Given the description of an element on the screen output the (x, y) to click on. 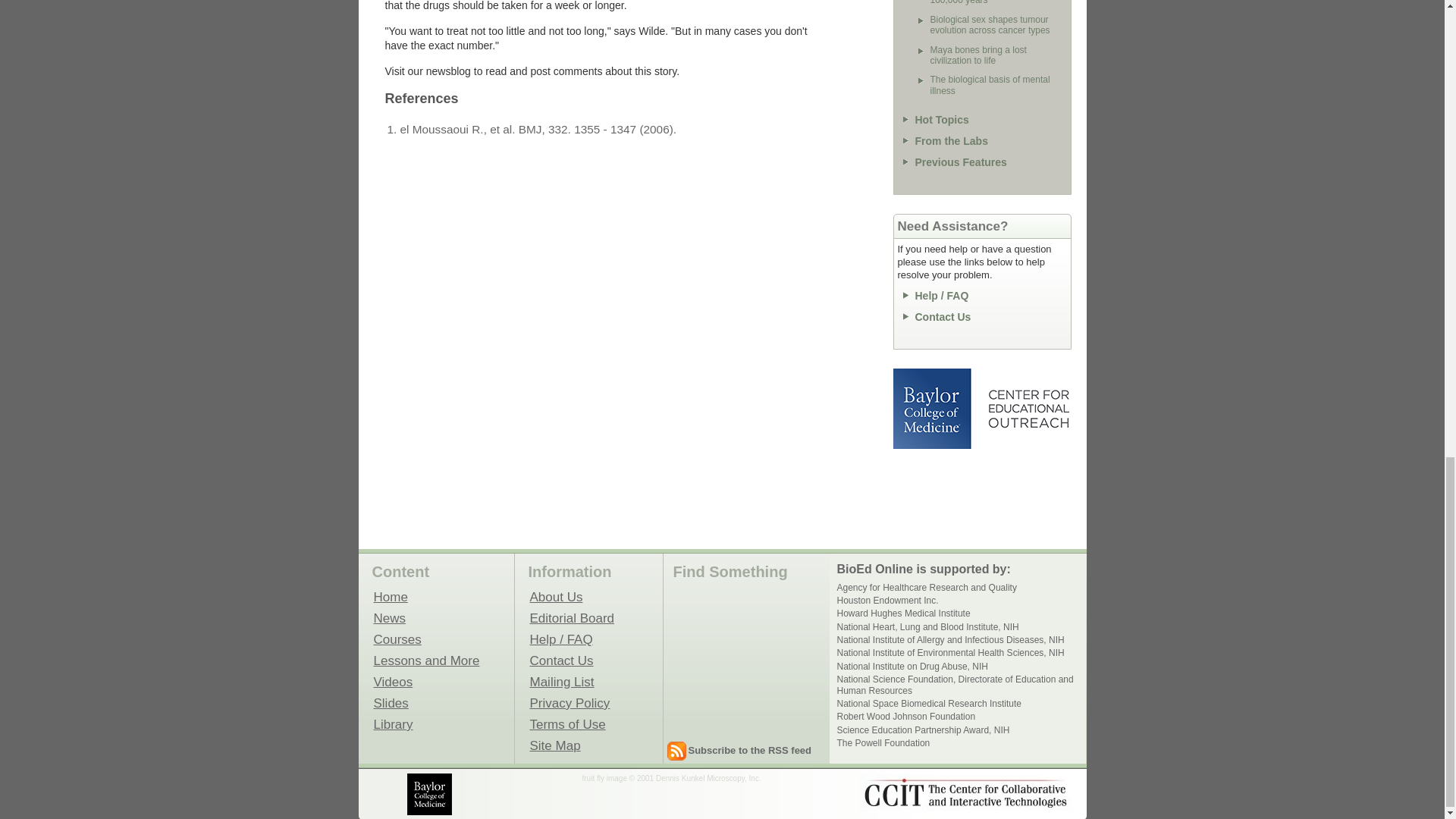
Baylor College of Medicine (933, 408)
Center for Educational Outreach - Baylor College of Medicine (1027, 408)
Baylor College of Medicine (430, 793)
